Given the description of an element on the screen output the (x, y) to click on. 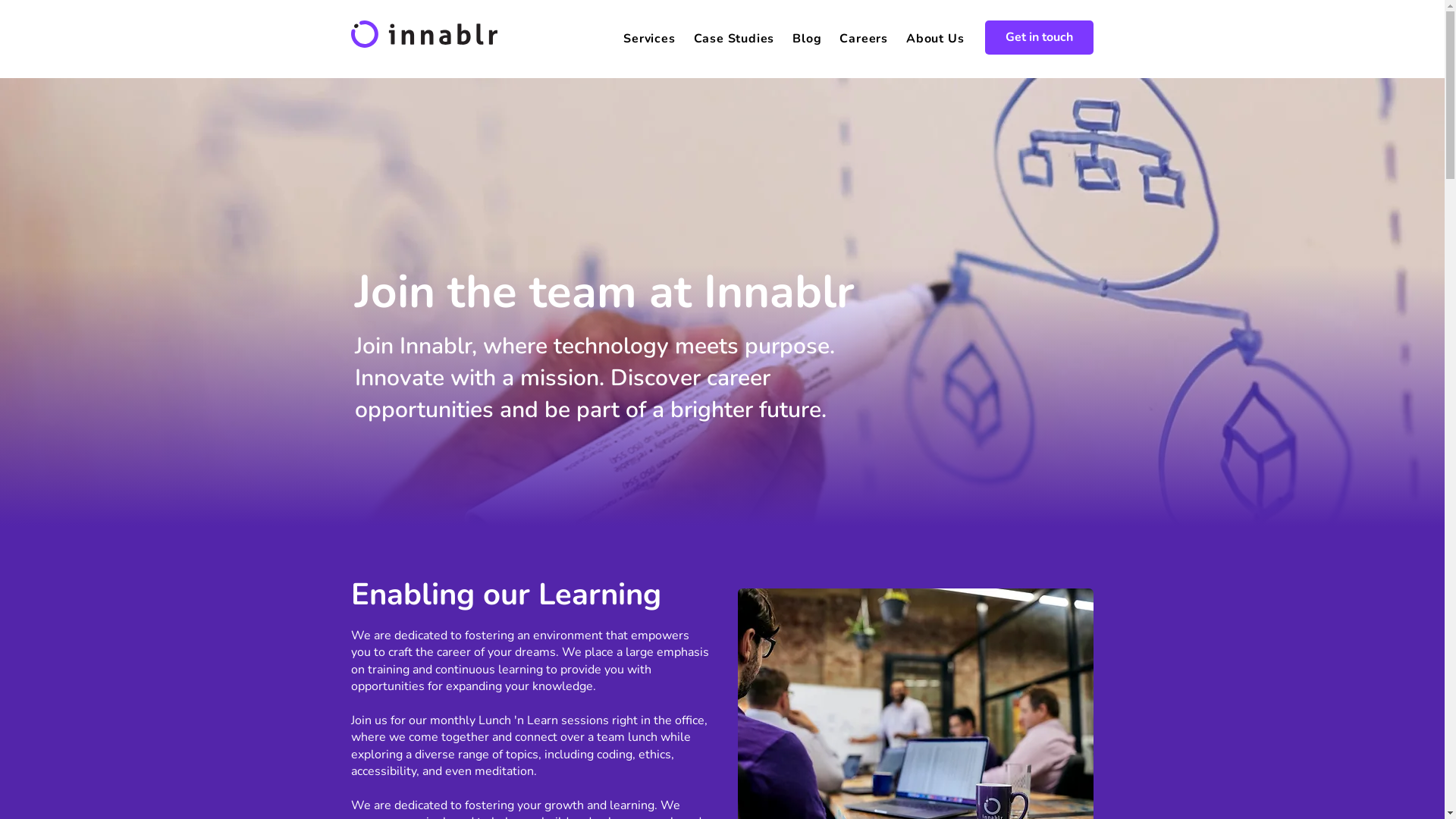
Careers Element type: text (863, 38)
About Us Element type: text (934, 38)
Blog Element type: text (806, 38)
Case Studies Element type: text (734, 38)
Get in touch Element type: text (1038, 37)
